Given the description of an element on the screen output the (x, y) to click on. 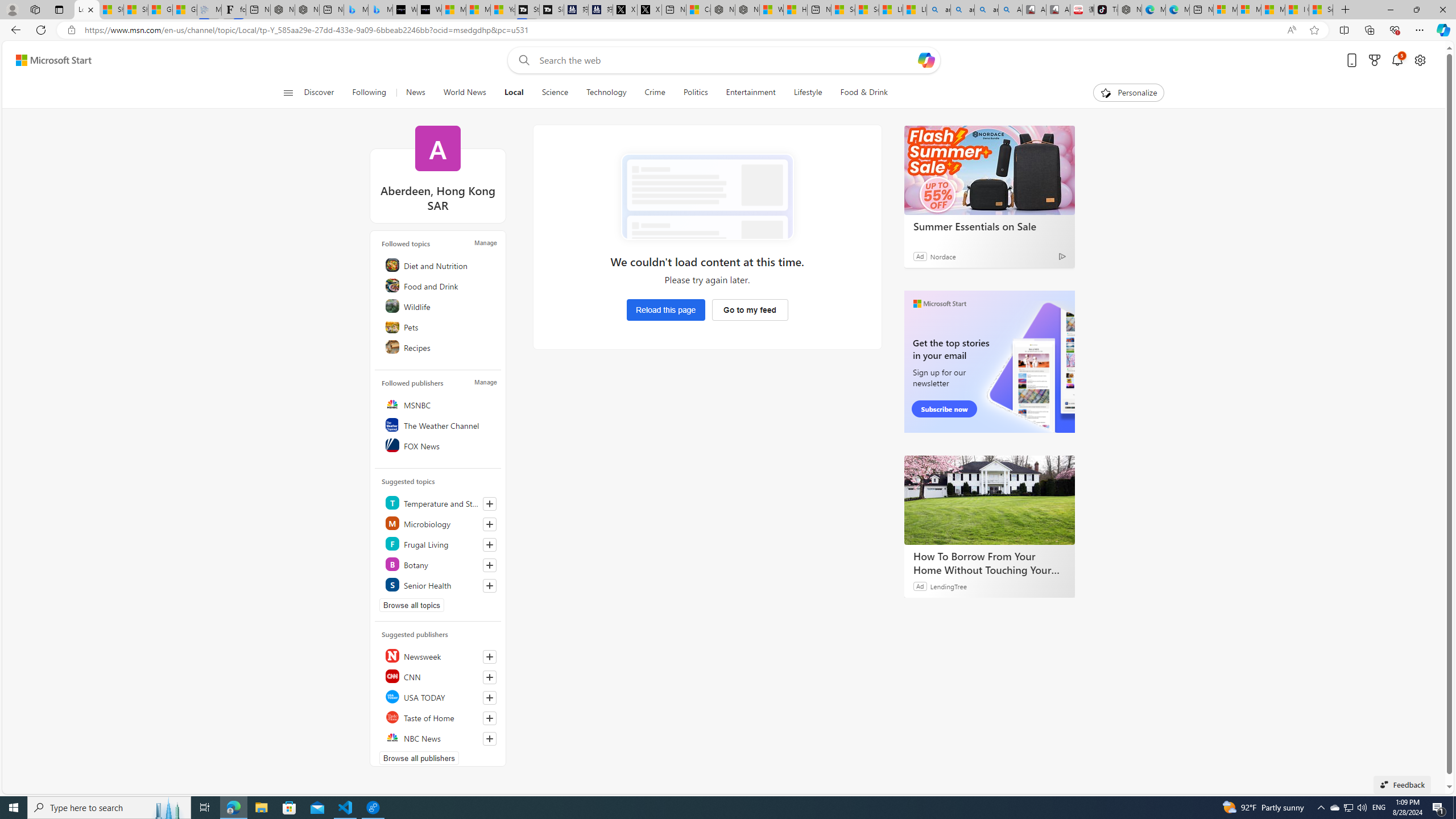
Lifestyle (807, 92)
Taste of Home (439, 717)
Technology (606, 92)
Microsoft Bing Travel - Stays in Bangkok, Bangkok, Thailand (355, 9)
Local (513, 92)
Science (554, 92)
Skip to footer (46, 59)
